Given the description of an element on the screen output the (x, y) to click on. 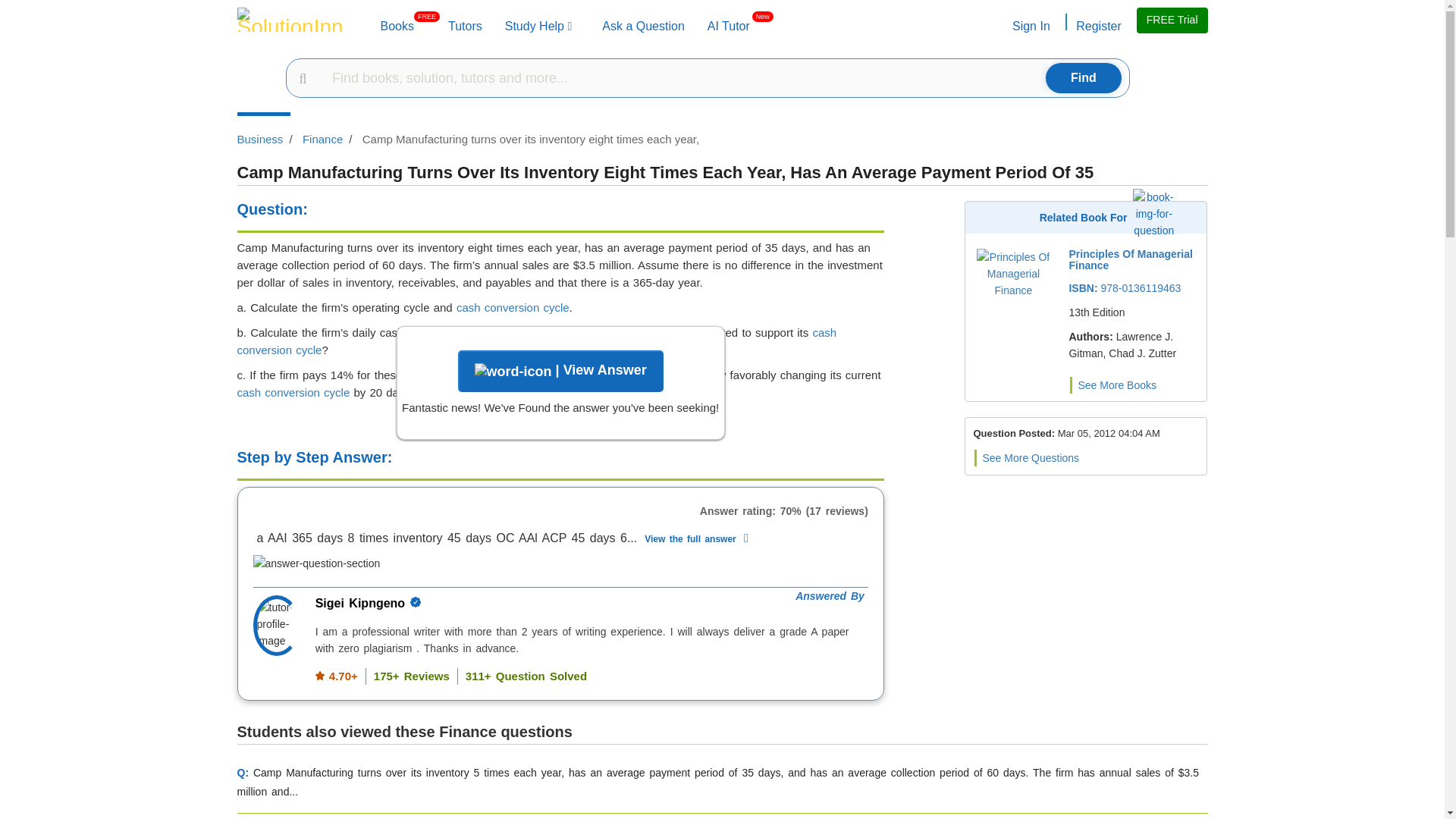
Study Help (538, 26)
Tutors (465, 26)
Ask a Question (397, 26)
Posted Date (643, 26)
Register (1109, 432)
Tutors (1097, 26)
Ask a Question (465, 26)
